Given the description of an element on the screen output the (x, y) to click on. 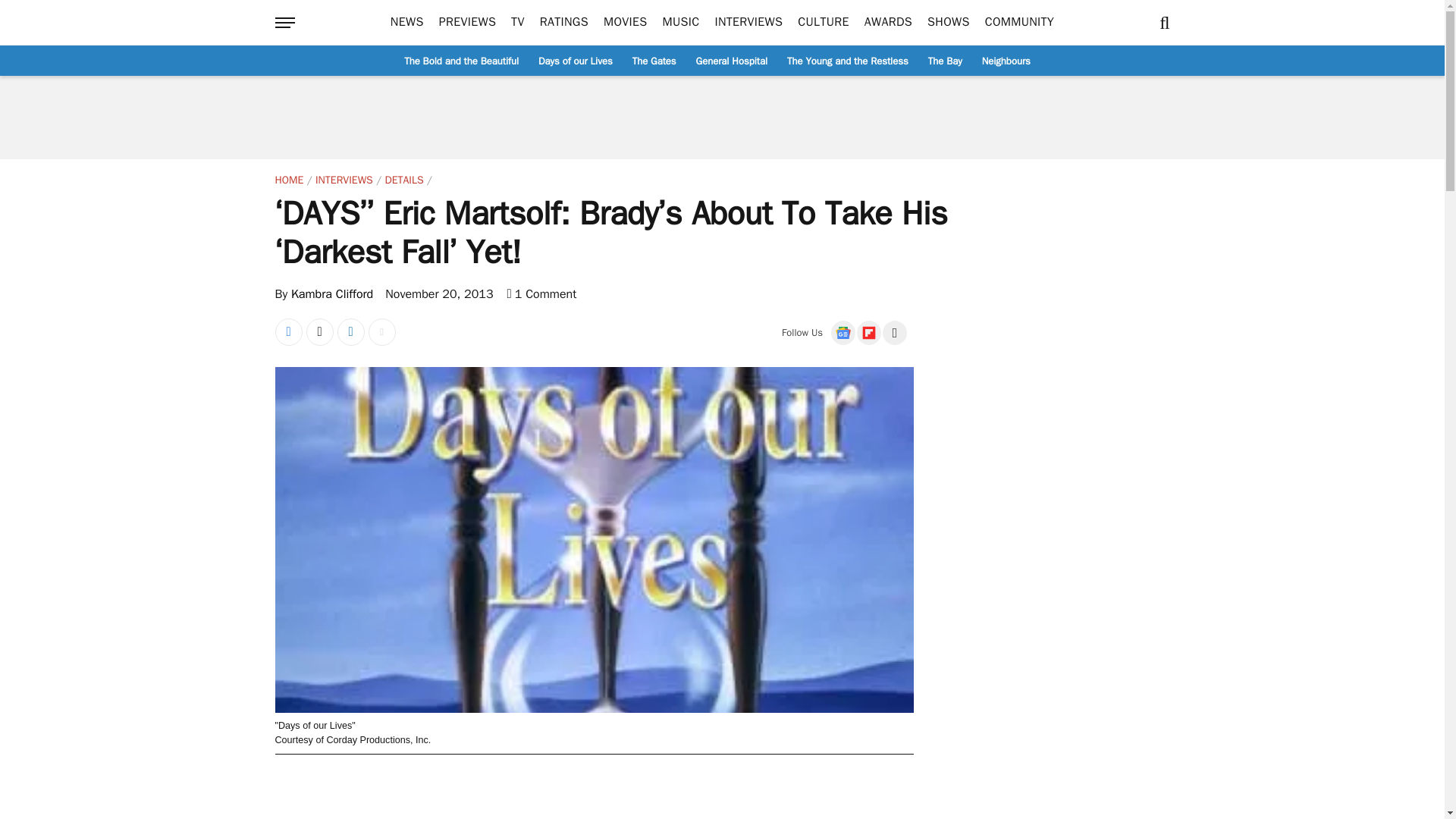
Share on Facebook (288, 331)
MUSIC (681, 22)
NEWS (406, 22)
INTERVIEWS (748, 22)
Share on LinkedIn (350, 331)
Posts by Kambra Clifford (331, 294)
MOVIES (625, 22)
RATINGS (563, 22)
Show More Social Sharing (382, 331)
PREVIEWS (466, 22)
